Given the description of an element on the screen output the (x, y) to click on. 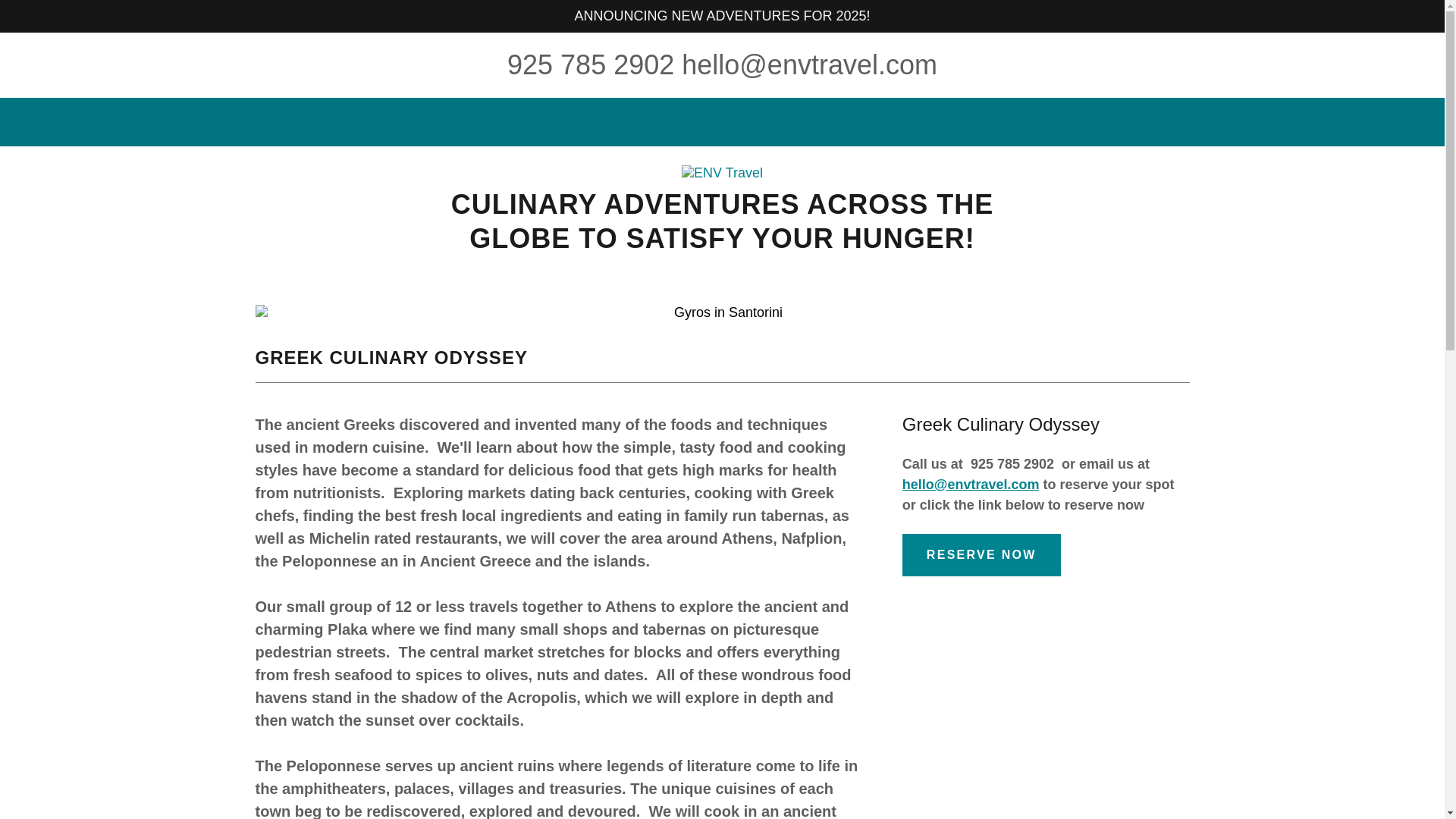
ENV Travel  (721, 171)
925 785 2902 (590, 64)
